Given the description of an element on the screen output the (x, y) to click on. 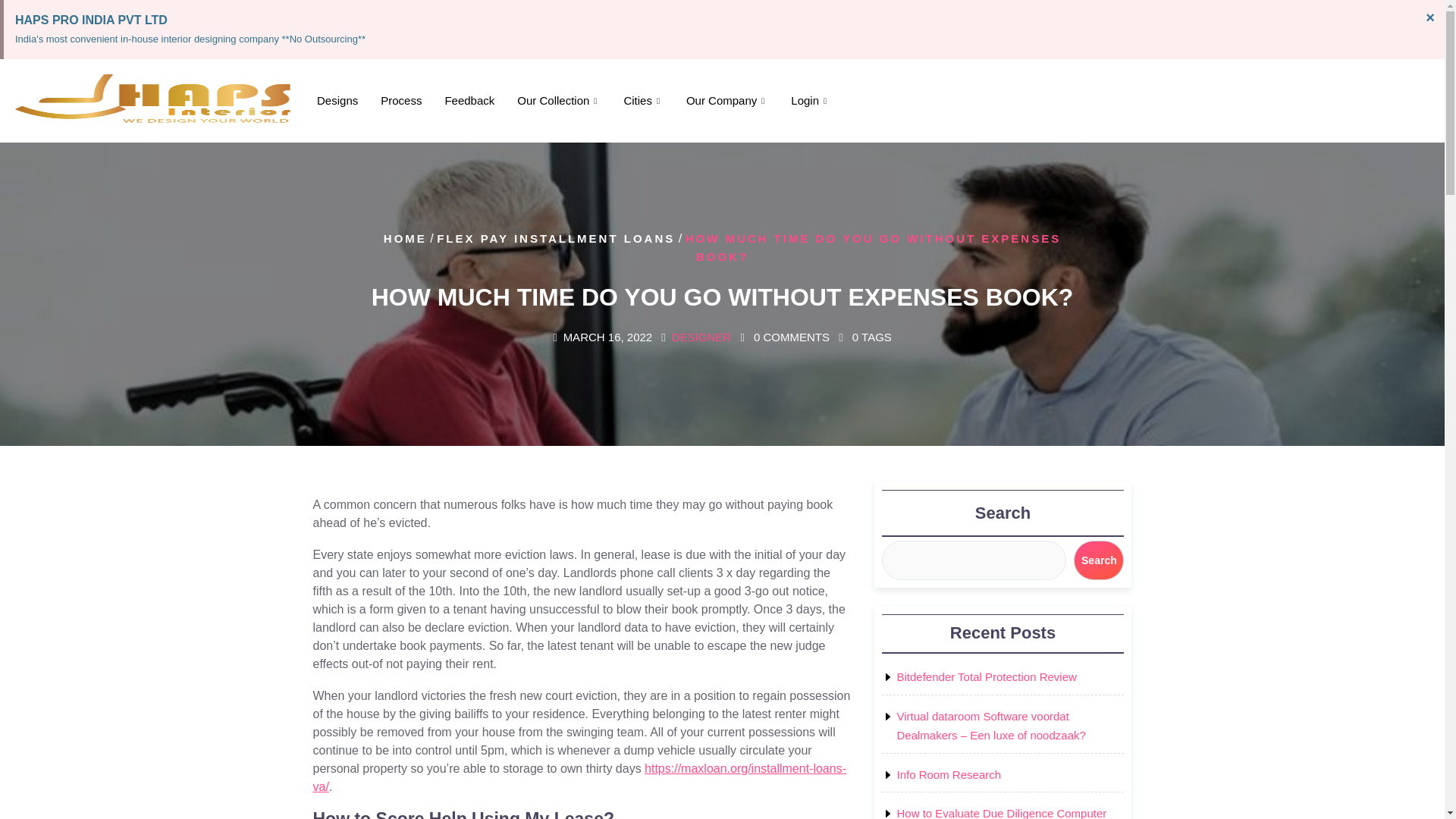
HOME (405, 237)
Designs (337, 100)
FLEX PAY INSTALLMENT LOANS (555, 237)
Login (809, 100)
Cities (643, 100)
Our Company (726, 100)
Our Collection (558, 100)
Feedback (468, 100)
Process (400, 100)
